Given the description of an element on the screen output the (x, y) to click on. 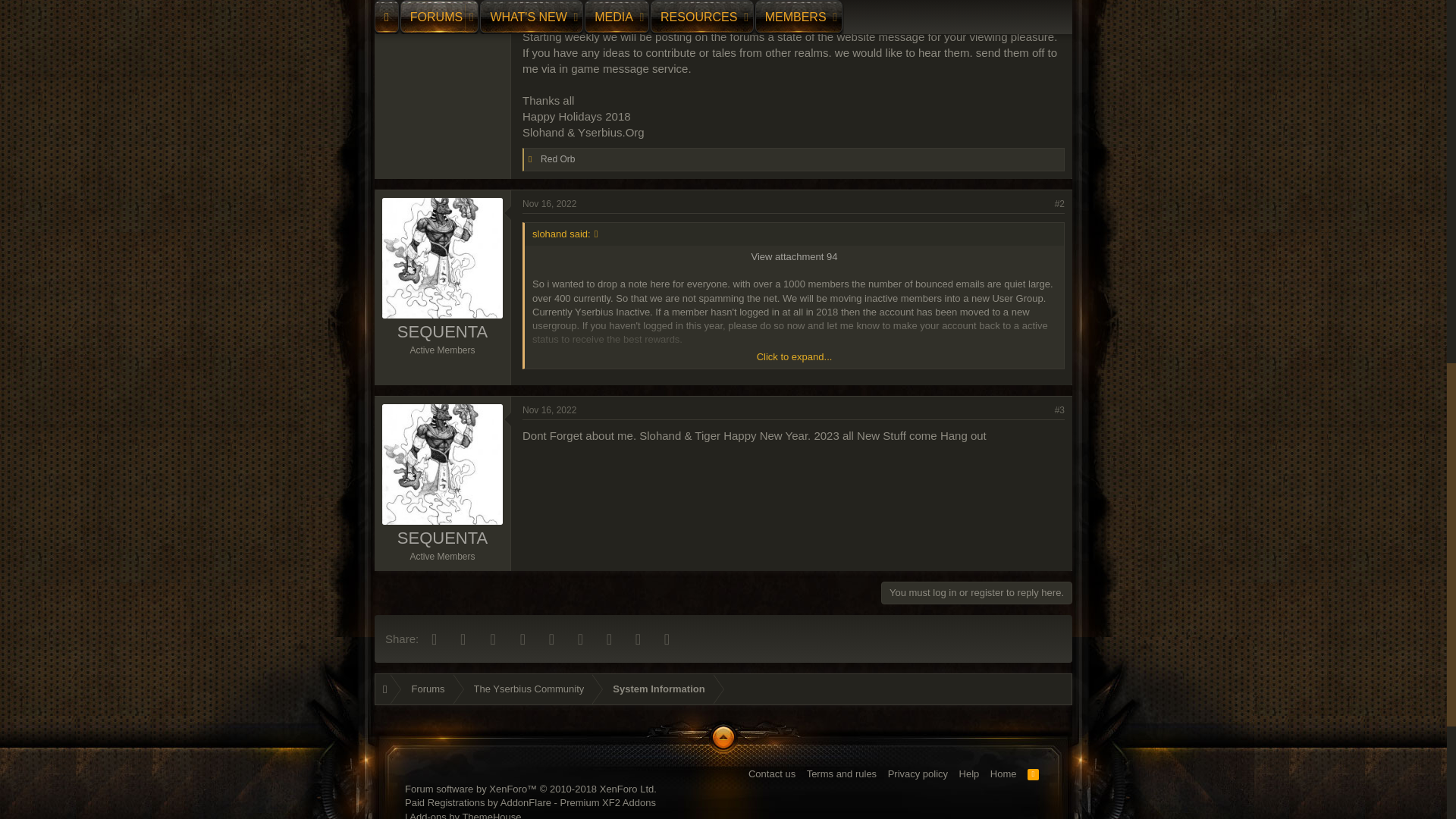
Nov 16, 2022 at 1:00 PM (549, 409)
RSS (1033, 773)
Nov 16, 2022 at 12:57 PM (549, 204)
Likes (533, 158)
